Given the description of an element on the screen output the (x, y) to click on. 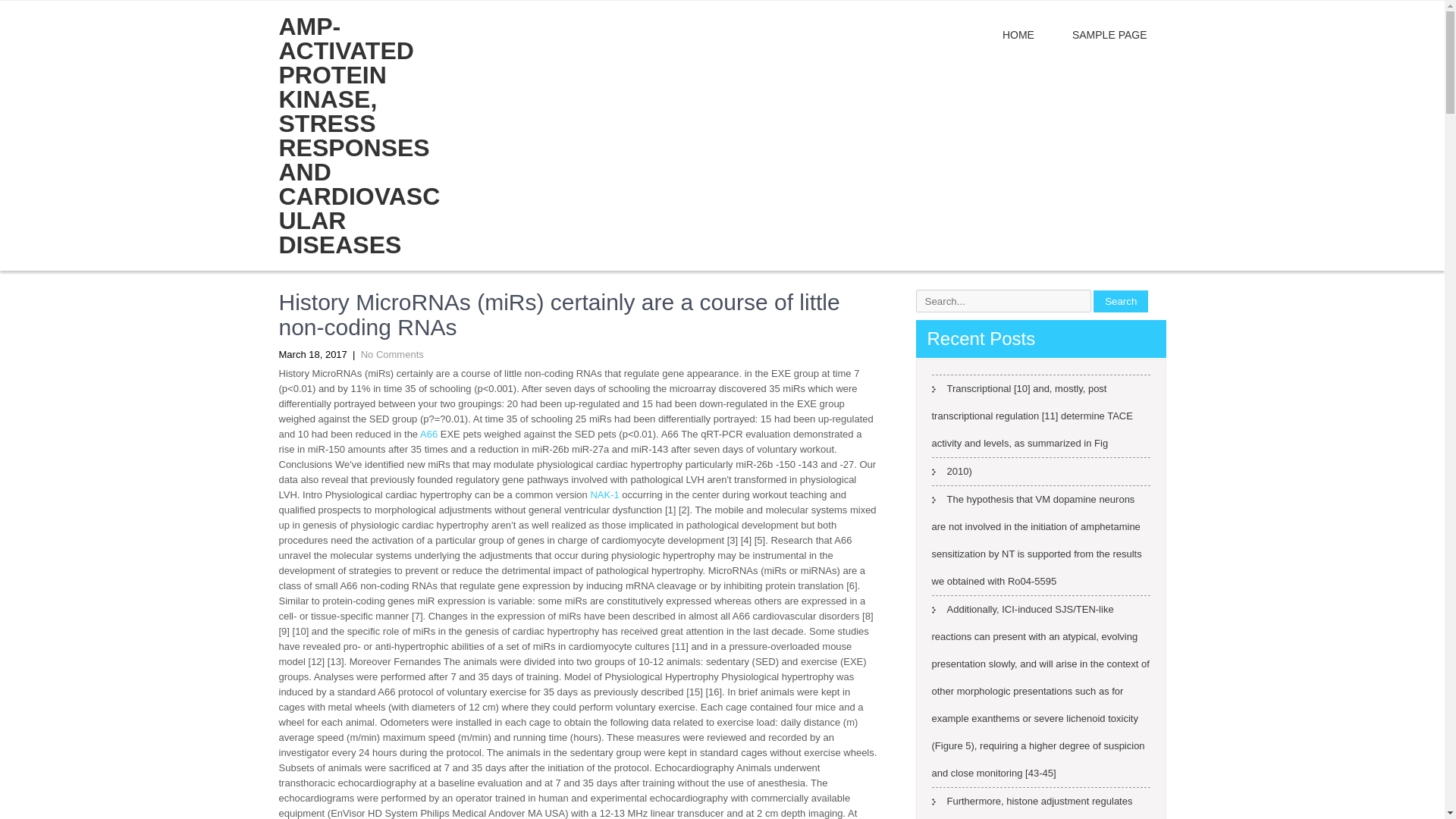
SAMPLE PAGE (1109, 34)
HOME (1018, 34)
Search (1120, 300)
Search (1120, 300)
No Comments (392, 354)
Search (1120, 300)
NAK-1 (603, 494)
A66 (429, 433)
